Given the description of an element on the screen output the (x, y) to click on. 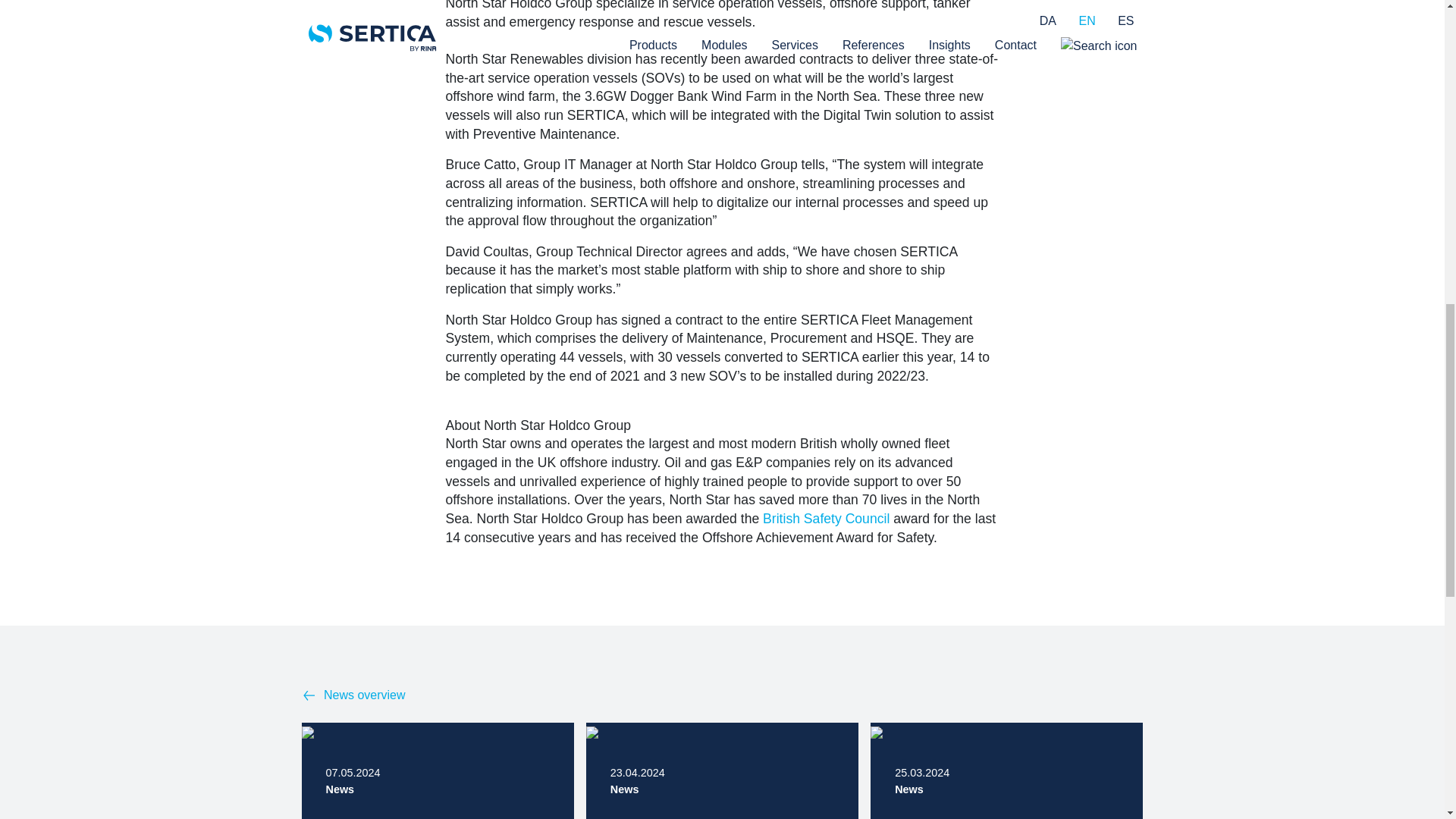
British Safety Council (825, 518)
News overview (1006, 771)
